Given the description of an element on the screen output the (x, y) to click on. 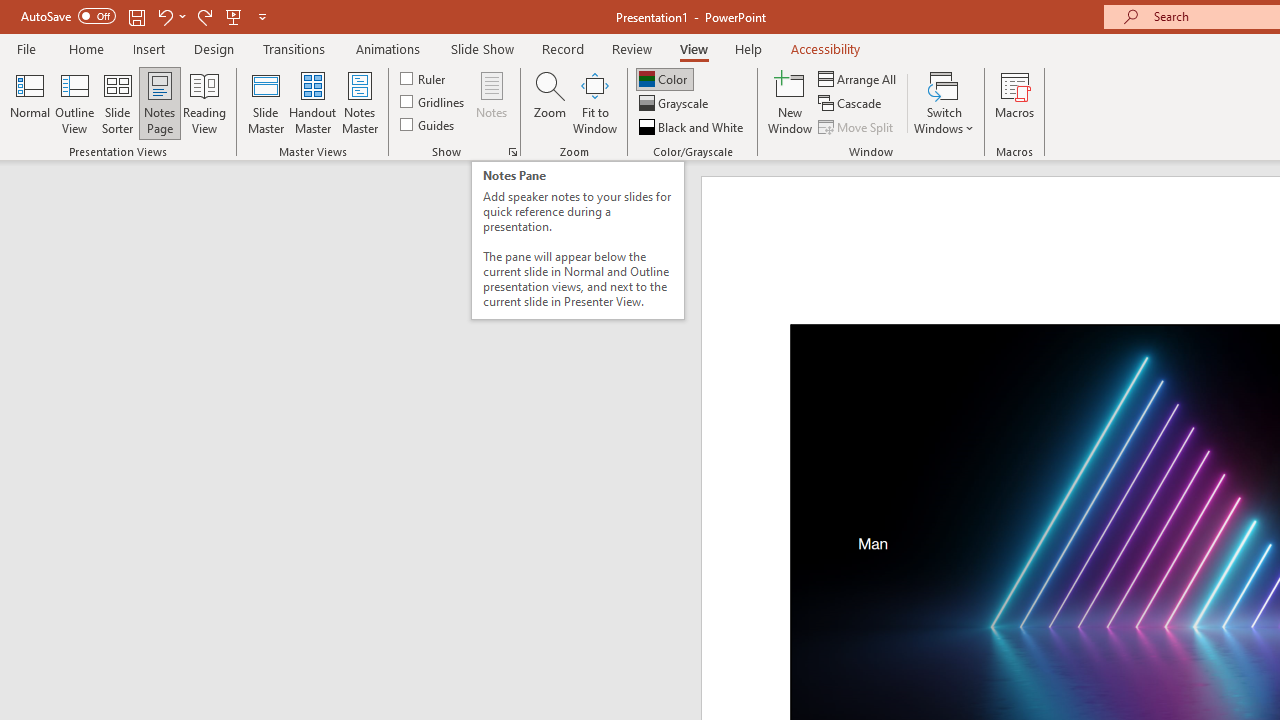
Cascade (851, 103)
Notes Master (360, 102)
New Window (790, 102)
Handout Master (312, 102)
Gridlines (433, 101)
Slide Master (265, 102)
